Given the description of an element on the screen output the (x, y) to click on. 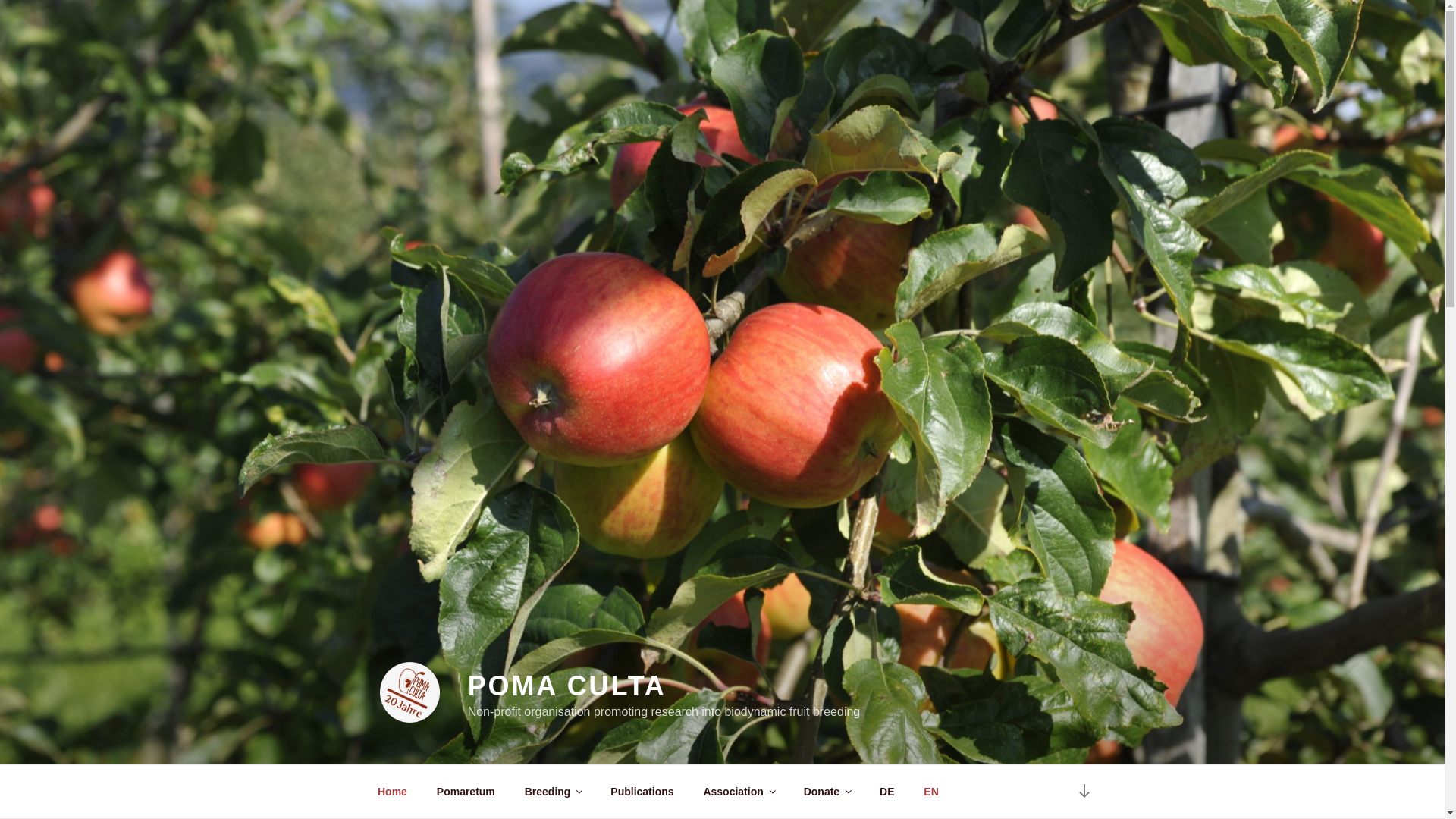
Home (392, 791)
Scroll down to content (1082, 791)
POMA CULTA (566, 685)
Pomaretum (465, 791)
Donate (826, 791)
Association (738, 791)
DE (886, 791)
Publications (641, 791)
Scroll down to content (1082, 791)
Breeding (552, 791)
